Given the description of an element on the screen output the (x, y) to click on. 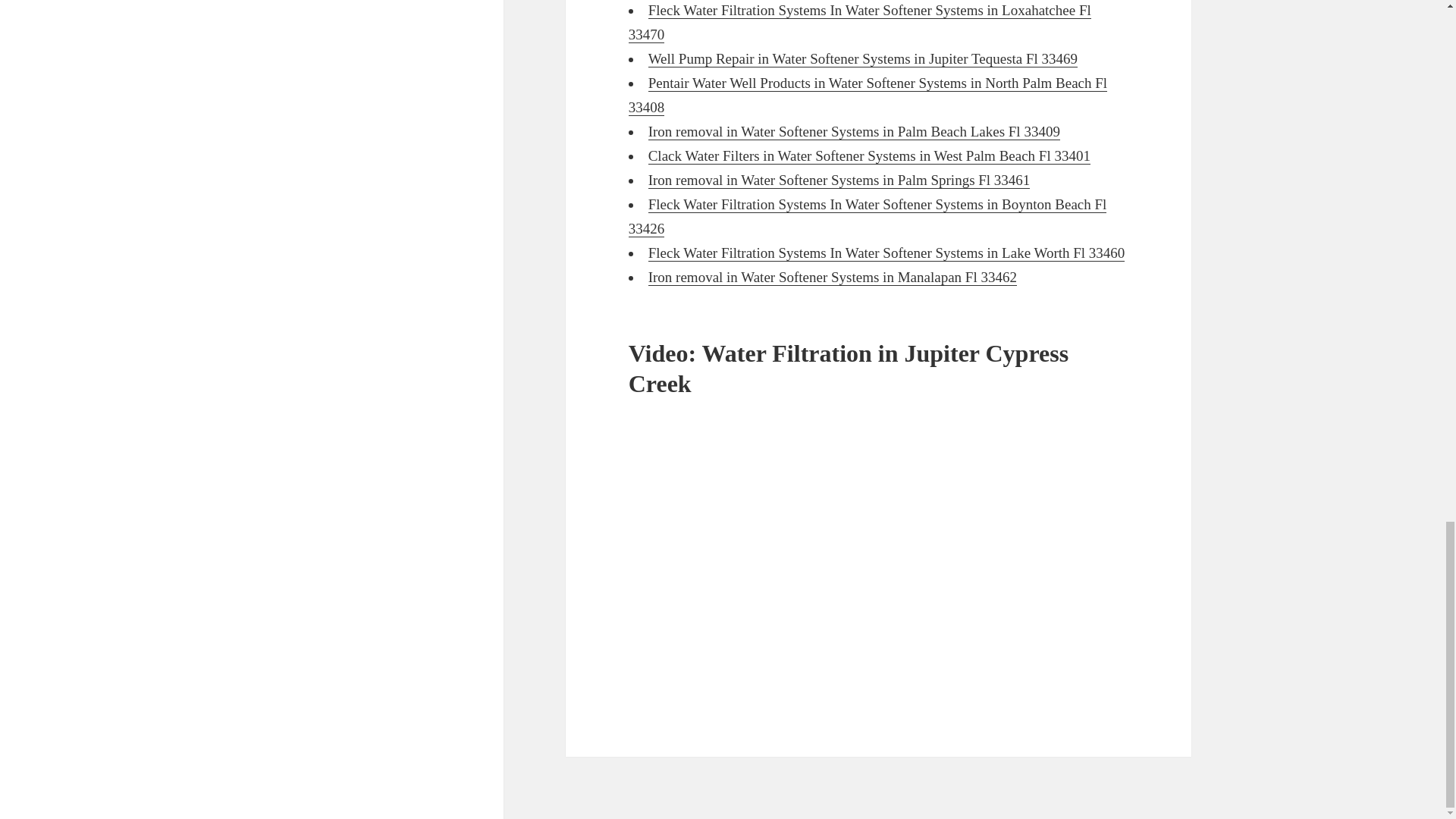
Iron removal in Water Softener Systems in Manalapan Fl 33462 (831, 277)
